Given the description of an element on the screen output the (x, y) to click on. 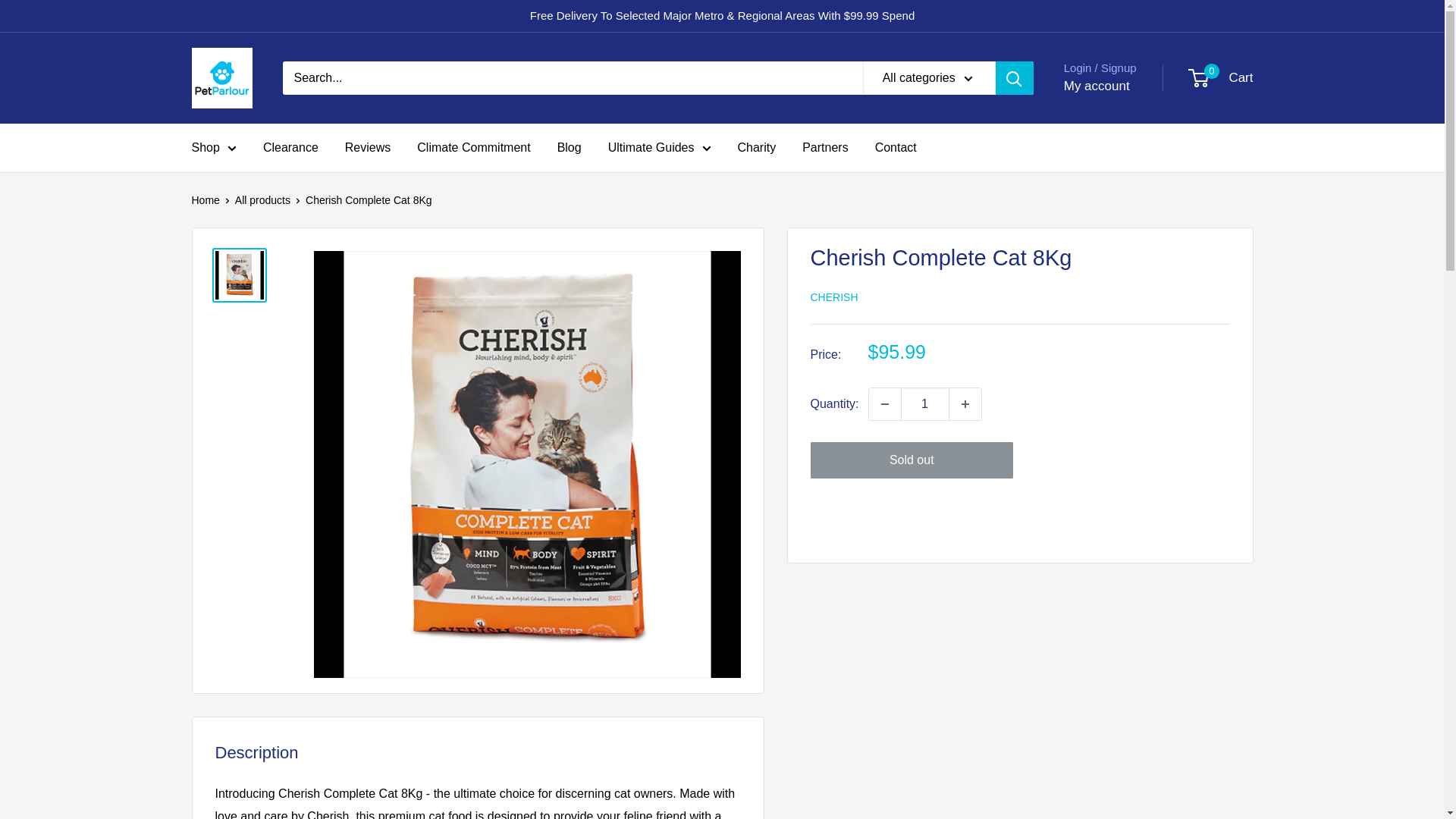
Decrease quantity by 1 (885, 404)
1 (925, 404)
Increase quantity by 1 (965, 404)
